Given the description of an element on the screen output the (x, y) to click on. 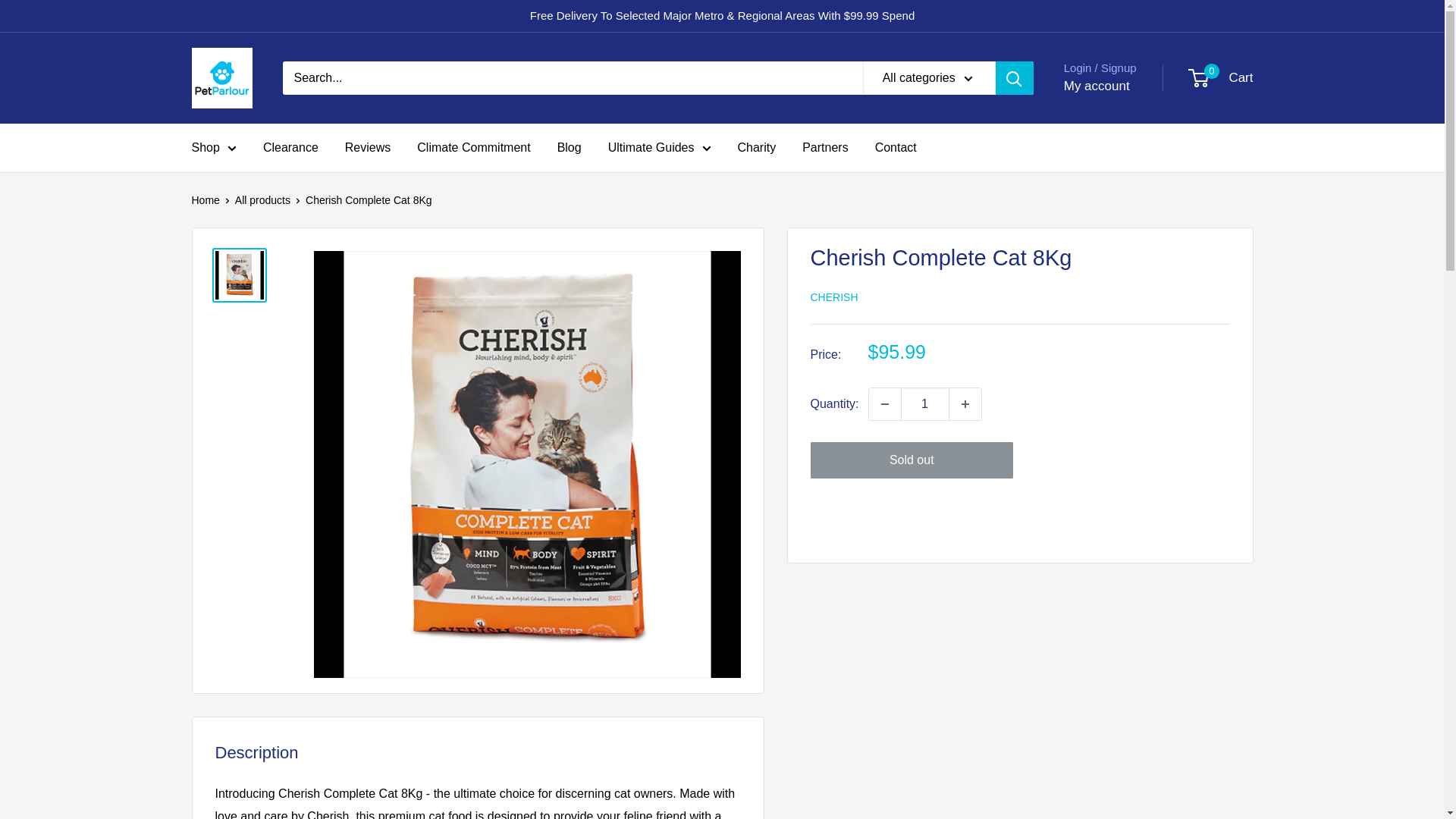
Decrease quantity by 1 (885, 404)
1 (925, 404)
Increase quantity by 1 (965, 404)
